Given the description of an element on the screen output the (x, y) to click on. 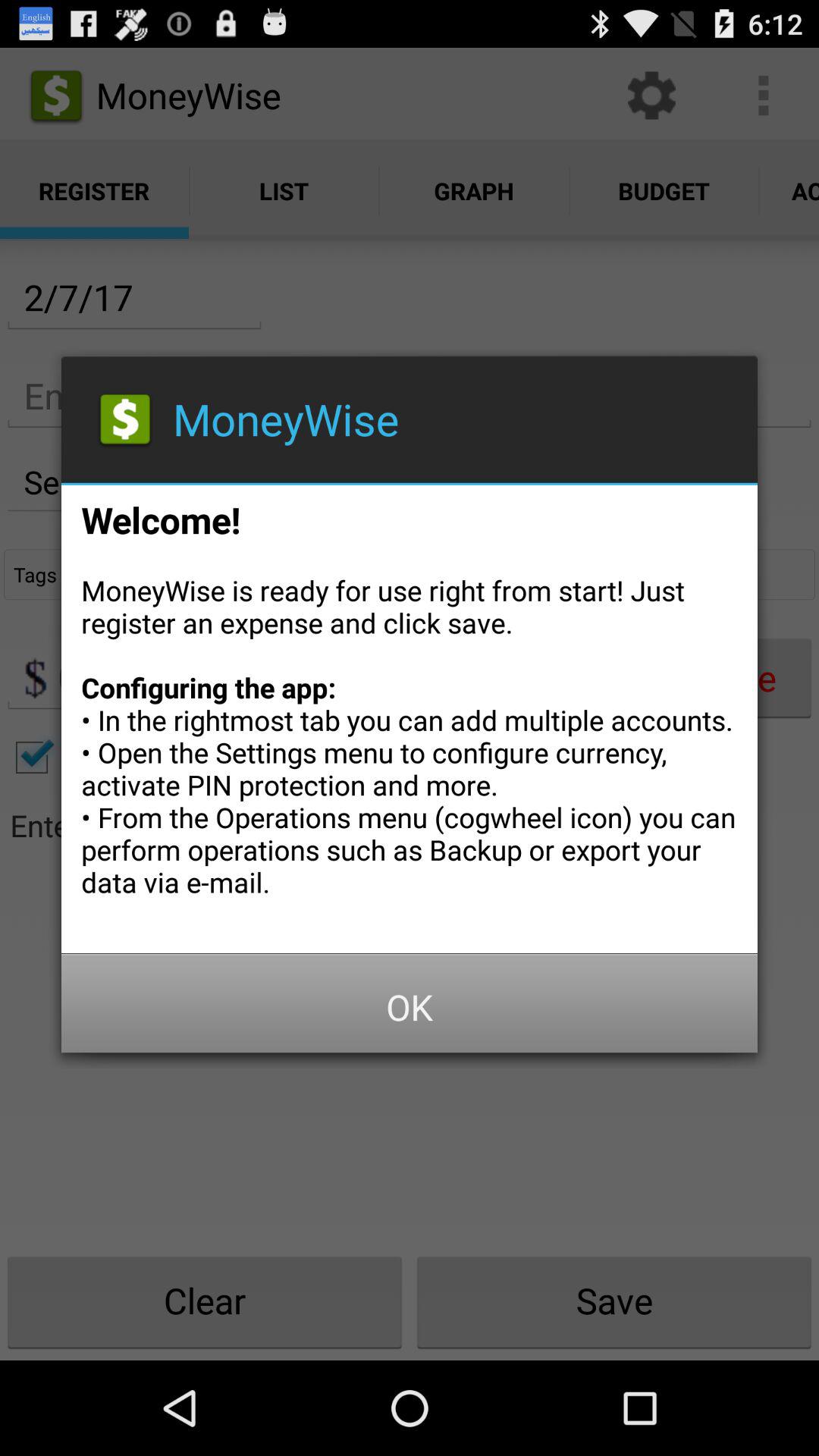
tap the icon below welcome moneywise is (409, 1007)
